Given the description of an element on the screen output the (x, y) to click on. 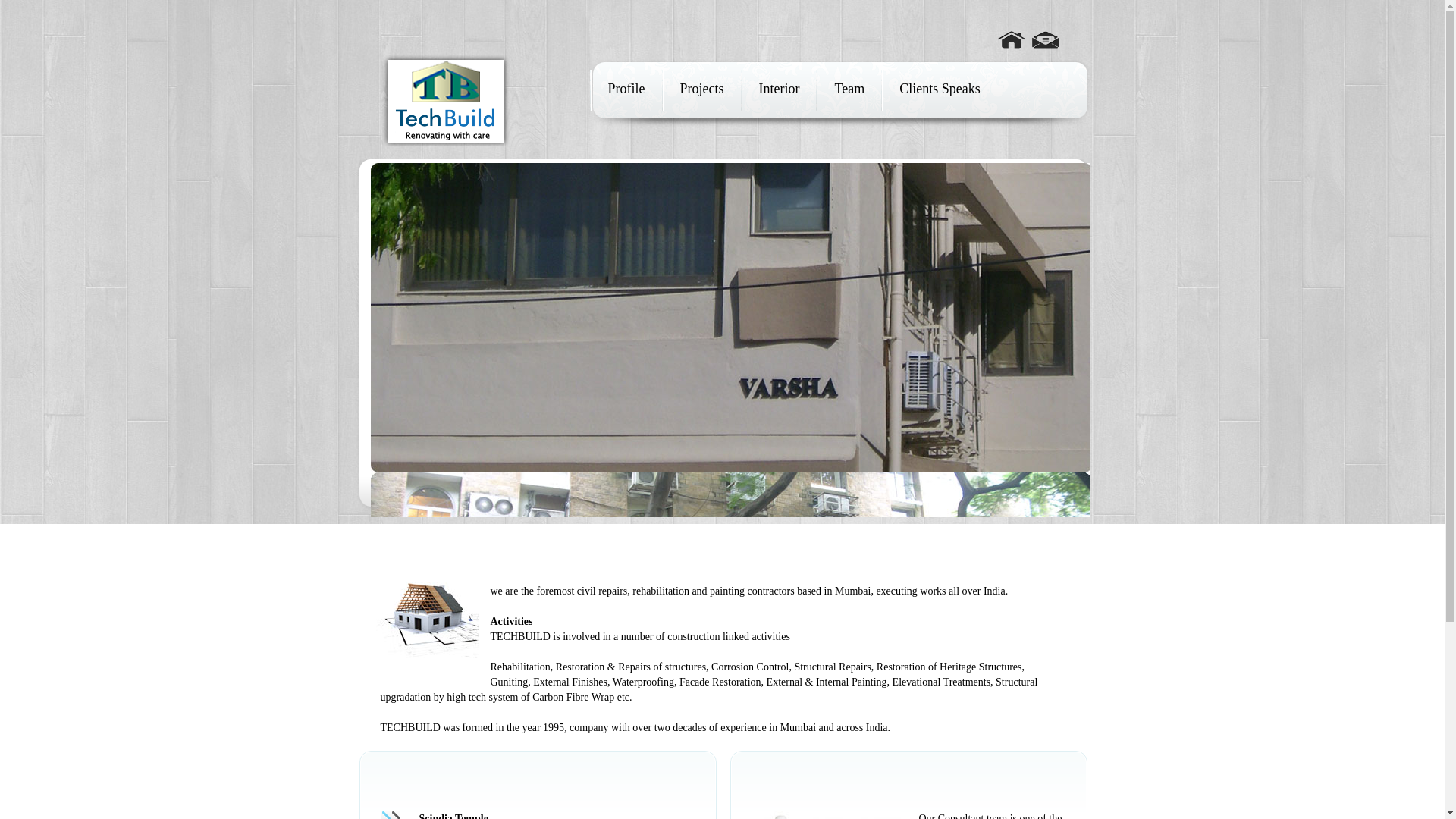
Projects (700, 88)
Contacts (1044, 34)
Profile (626, 88)
Home (1010, 34)
Team (848, 88)
Interior (778, 88)
Scindia Temple (453, 816)
Clients Speaks (939, 88)
